Given the description of an element on the screen output the (x, y) to click on. 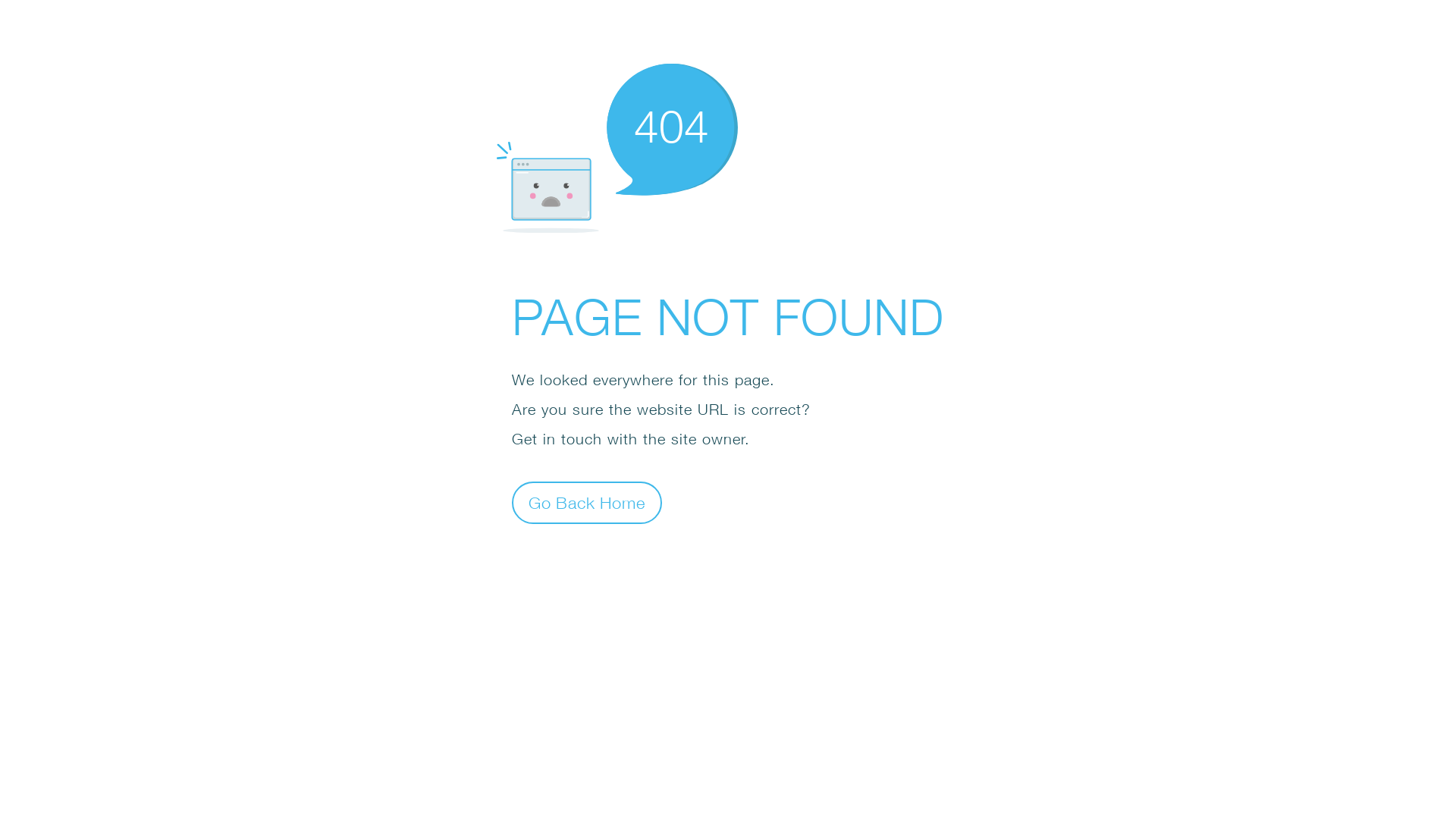
Go Back Home Element type: text (586, 502)
